Given the description of an element on the screen output the (x, y) to click on. 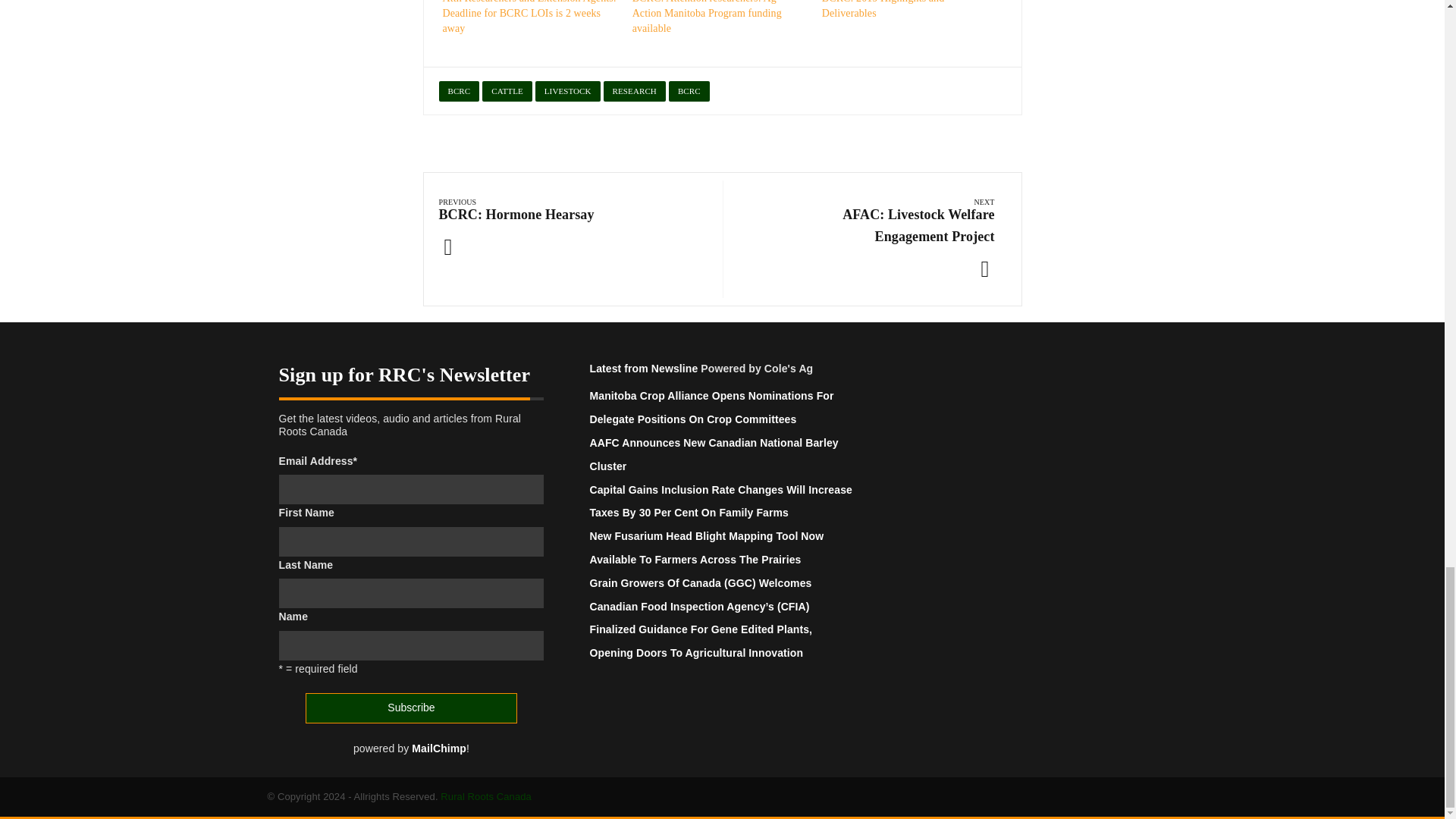
BCRC (689, 91)
BCRC: 2019 Highlights and Deliverables (883, 9)
CATTLE (506, 91)
Amplifying Canadian Agriculture (486, 796)
Subscribe (410, 707)
LIVESTOCK (567, 91)
BCRC (458, 91)
BCRC: 2019 Highlights and Deliverables (883, 9)
